Given the description of an element on the screen output the (x, y) to click on. 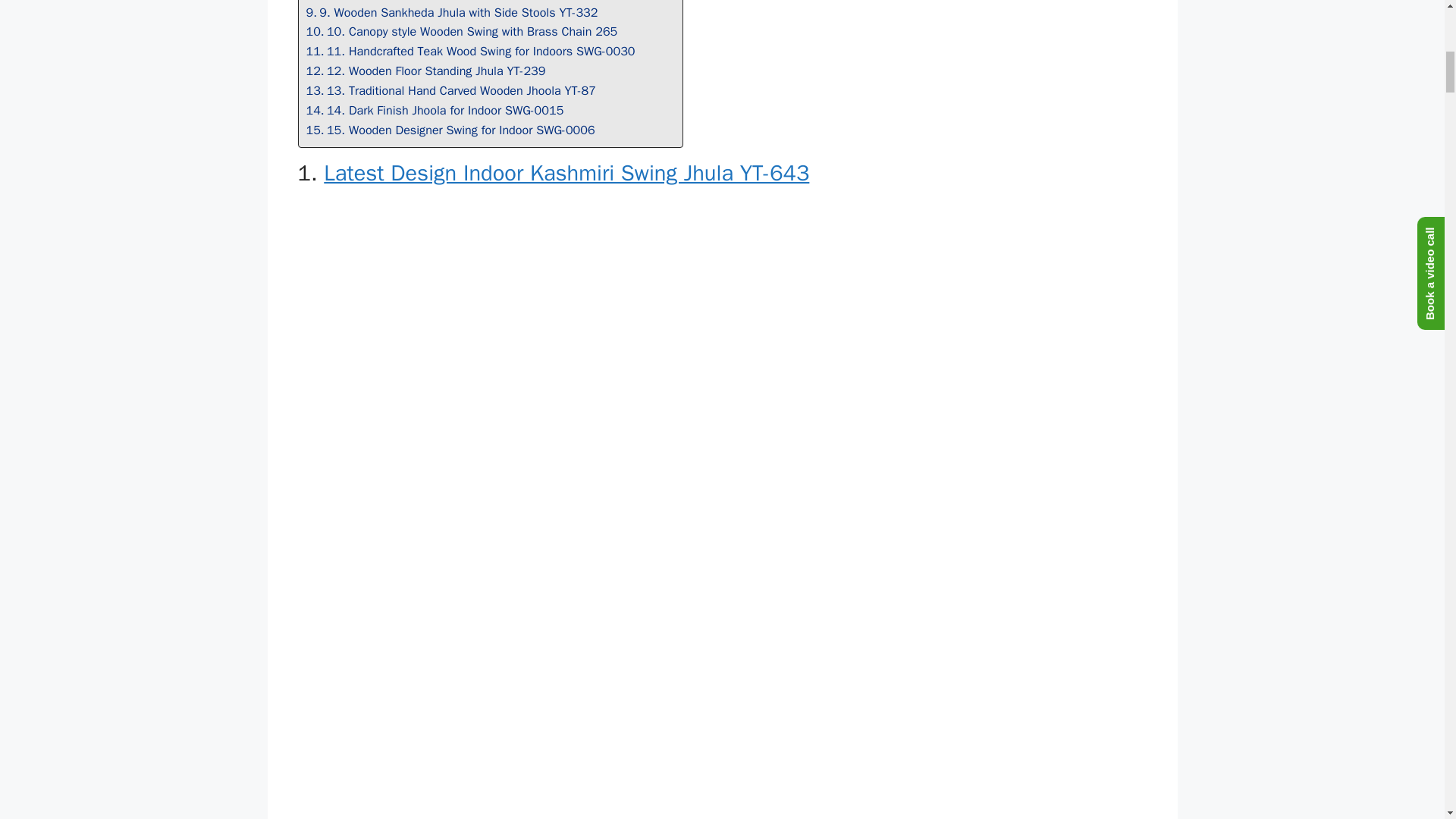
11. Handcrafted Teak Wood Swing for Indoors SWG-0030 (469, 51)
12. Wooden Floor Standing Jhula YT-239 (425, 71)
13. Traditional Hand Carved Wooden Jhoola YT-87 (450, 90)
9. Wooden Sankheda Jhula with Side Stools YT-332 (451, 12)
10. Canopy style Wooden Swing with Brass Chain 265 (461, 31)
